Given the description of an element on the screen output the (x, y) to click on. 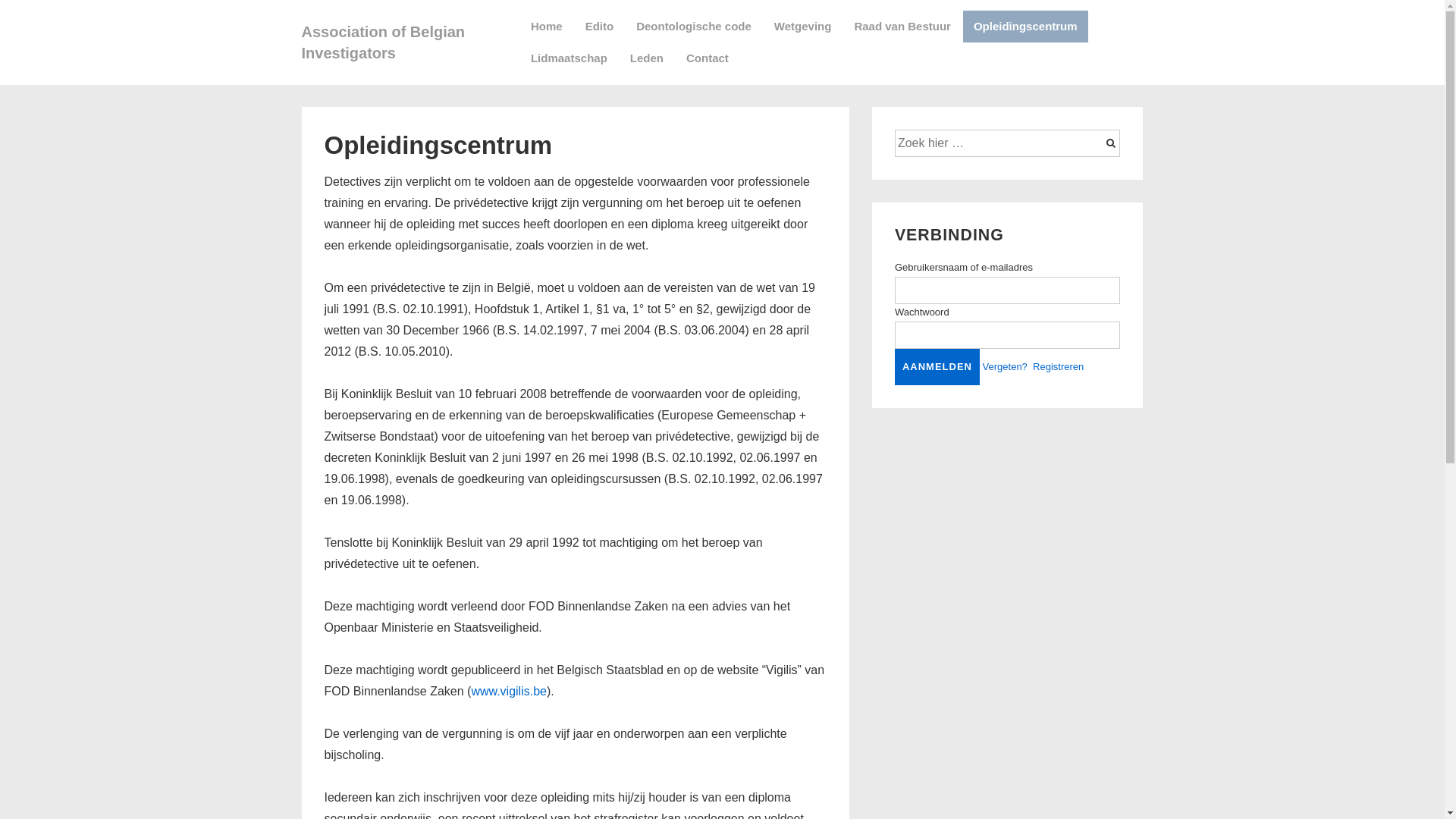
www.vigilis.be Element type: text (508, 690)
Lidmaatschap Element type: text (569, 58)
Aanmelden Element type: text (936, 366)
Edito Element type: text (599, 26)
Raad van Bestuur Element type: text (902, 26)
Association of Belgian Investigators Element type: text (383, 42)
Registreren Element type: text (1057, 366)
Wetgeving Element type: text (802, 26)
Vergeten? Element type: text (1004, 366)
Contact Element type: text (707, 58)
Deontologische code Element type: text (693, 26)
Leden Element type: text (646, 58)
Home Element type: text (546, 26)
Opleidingscentrum Element type: text (1025, 26)
